Given the description of an element on the screen output the (x, y) to click on. 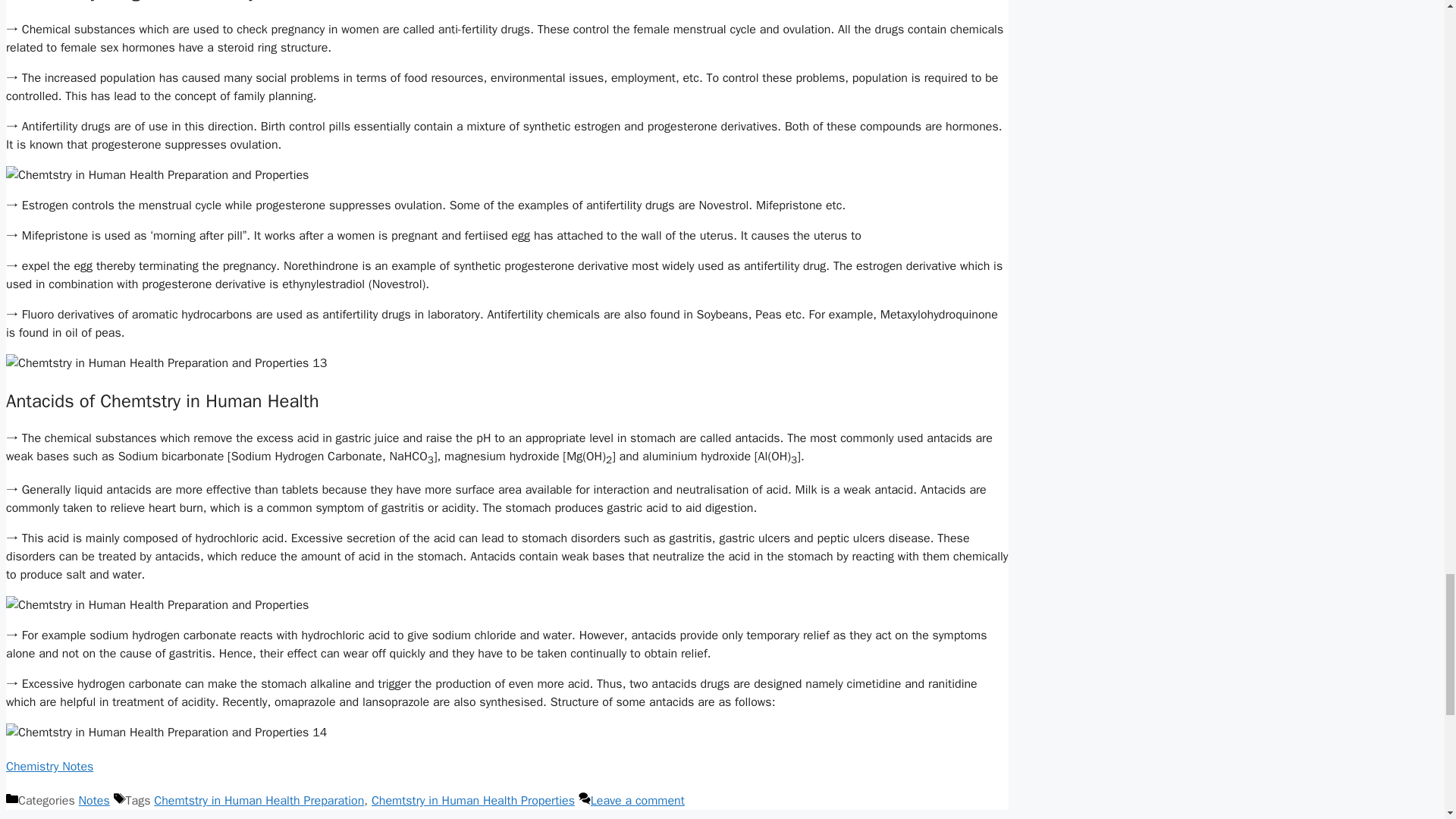
Leave a comment (637, 800)
Chemtstry in Human Health Preparation (259, 800)
Chemistry Notes (49, 766)
Chemtstry in Human Health Properties (473, 800)
Notes (94, 800)
